Given the description of an element on the screen output the (x, y) to click on. 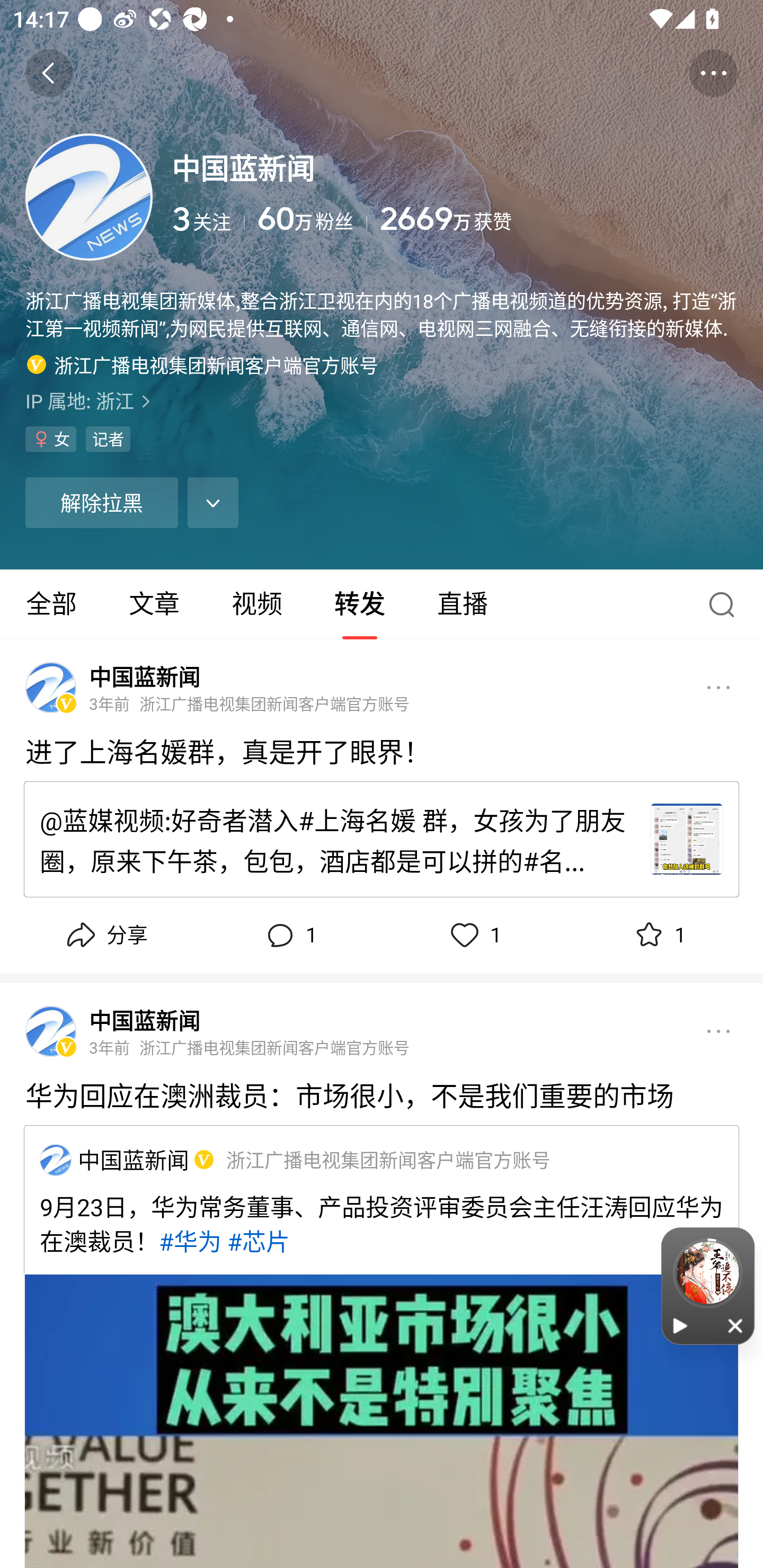
返回 (49, 72)
更多操作 (713, 72)
头像 (88, 196)
3 关注 (207, 219)
60万 粉丝 (311, 219)
2669万 获赞 (558, 219)
浙江广播电视集团新闻客户端官方账号 (202, 364)
IP 属地: 浙江 (381, 400)
性别女 女 (50, 438)
记者 (107, 438)
解除拉黑 (101, 502)
展开相关推荐，按钮 (212, 502)
全部 (51, 604)
文章 (154, 604)
视频 (256, 604)
转发 (359, 604)
直播 (462, 604)
搜索 (726, 604)
中国蓝新闻 (144, 676)
头像 (50, 687)
更多 (718, 687)
@蓝媒视频:好奇者潜入#上海名媛 群，女孩为了朋友圈，原来下午茶，包包，酒店都是可以拼的#名... (336, 838)
分享 (104, 934)
评论,1 1 (288, 934)
收藏,1 1 (658, 934)
中国蓝新闻 (144, 1019)
头像 (50, 1031)
更多 (718, 1031)
中国蓝新闻 (55, 1160)
中国蓝新闻 (133, 1159)
 [1] (201, 1159)
浙江广播电视集团新闻客户端官方账号 (388, 1159)
播放 关闭 (708, 1286)
播放 (680, 1325)
关闭 (736, 1325)
